Given the description of an element on the screen output the (x, y) to click on. 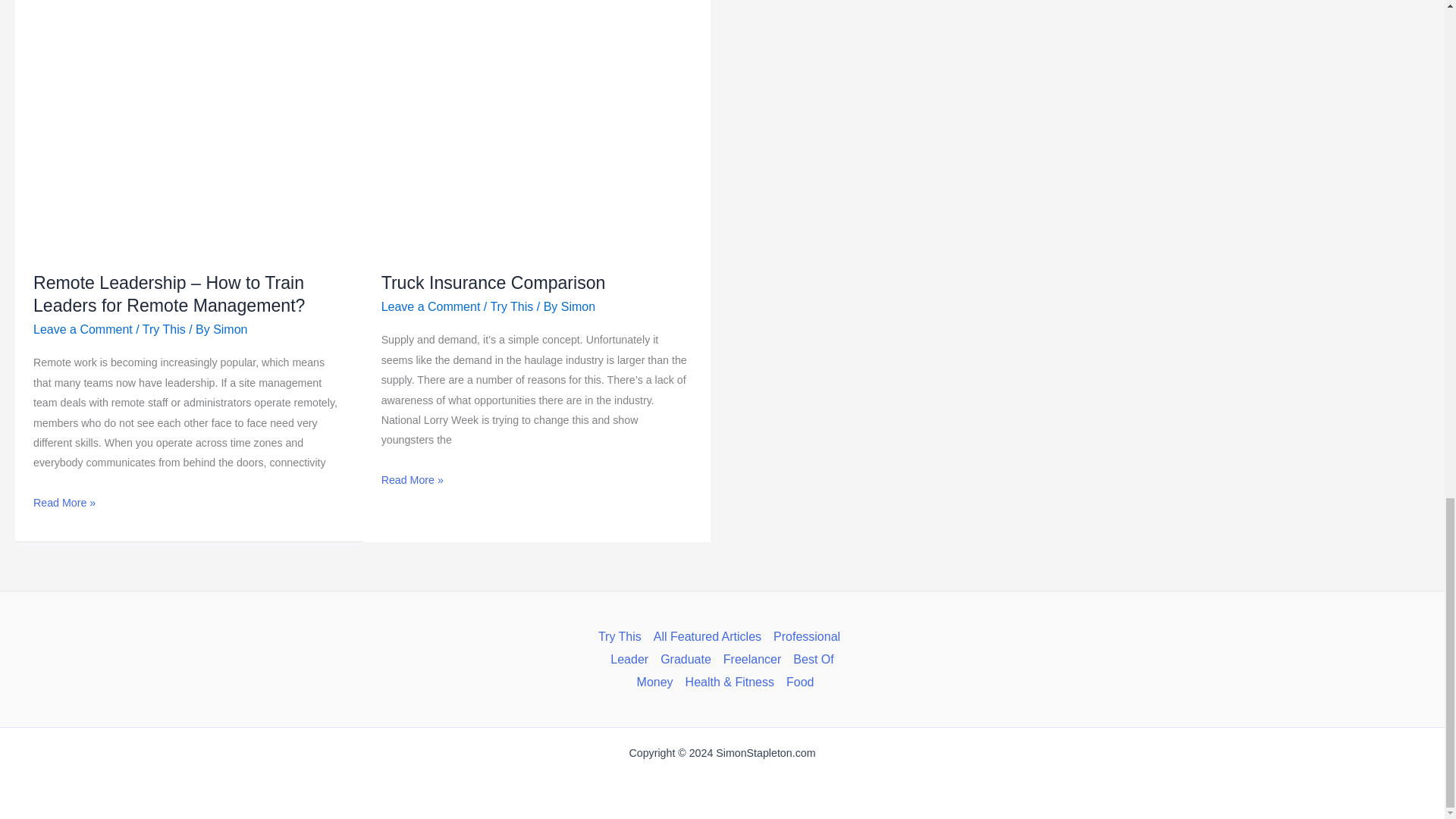
View all posts by Simon (577, 306)
Simon (229, 328)
Try This (164, 328)
View all posts by Simon (229, 328)
Leave a Comment (82, 328)
